Given the description of an element on the screen output the (x, y) to click on. 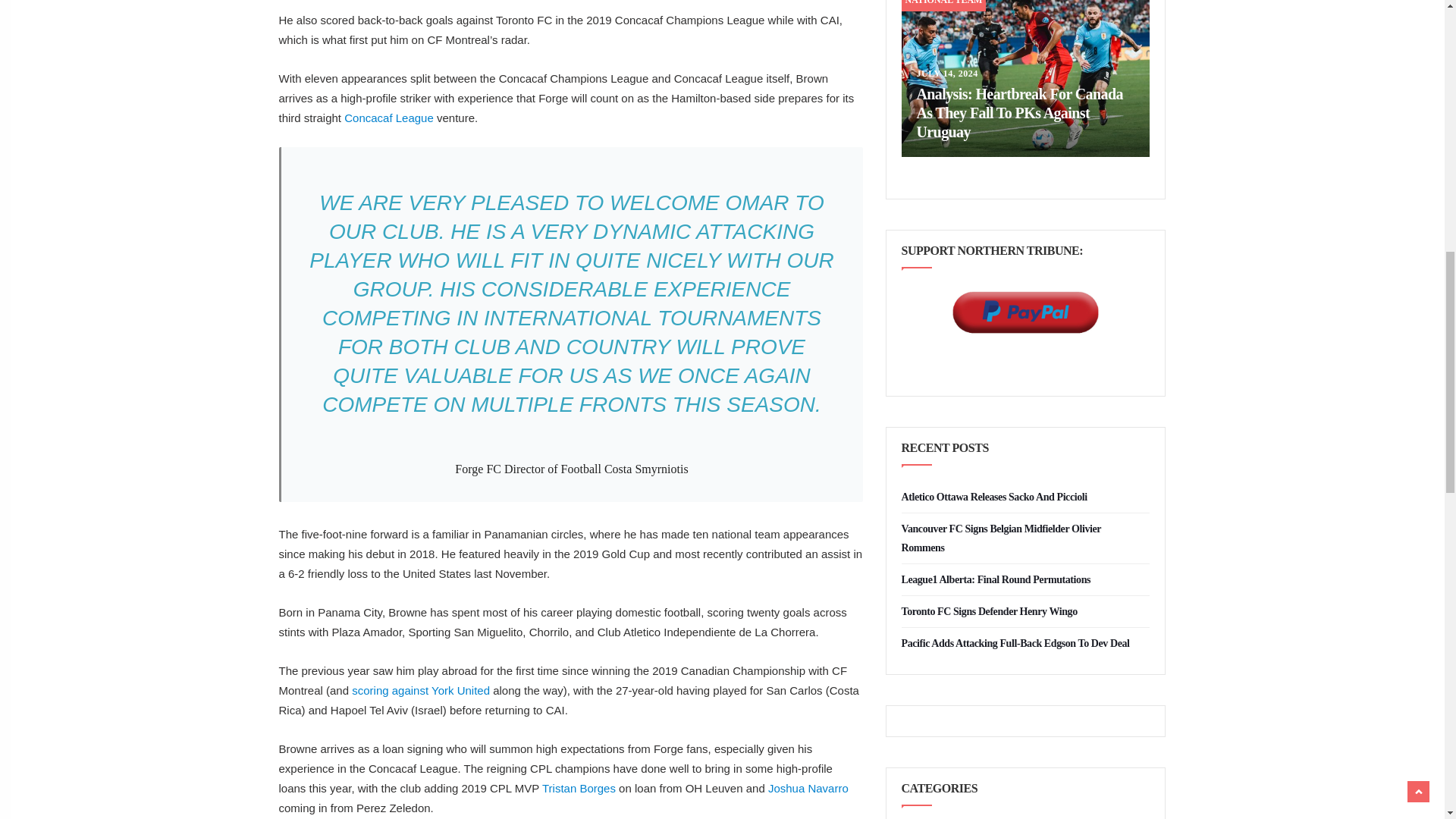
Concacaf League (388, 117)
scoring against York United (419, 689)
Joshua Navarro (808, 788)
Tristan Borges (578, 788)
